Given the description of an element on the screen output the (x, y) to click on. 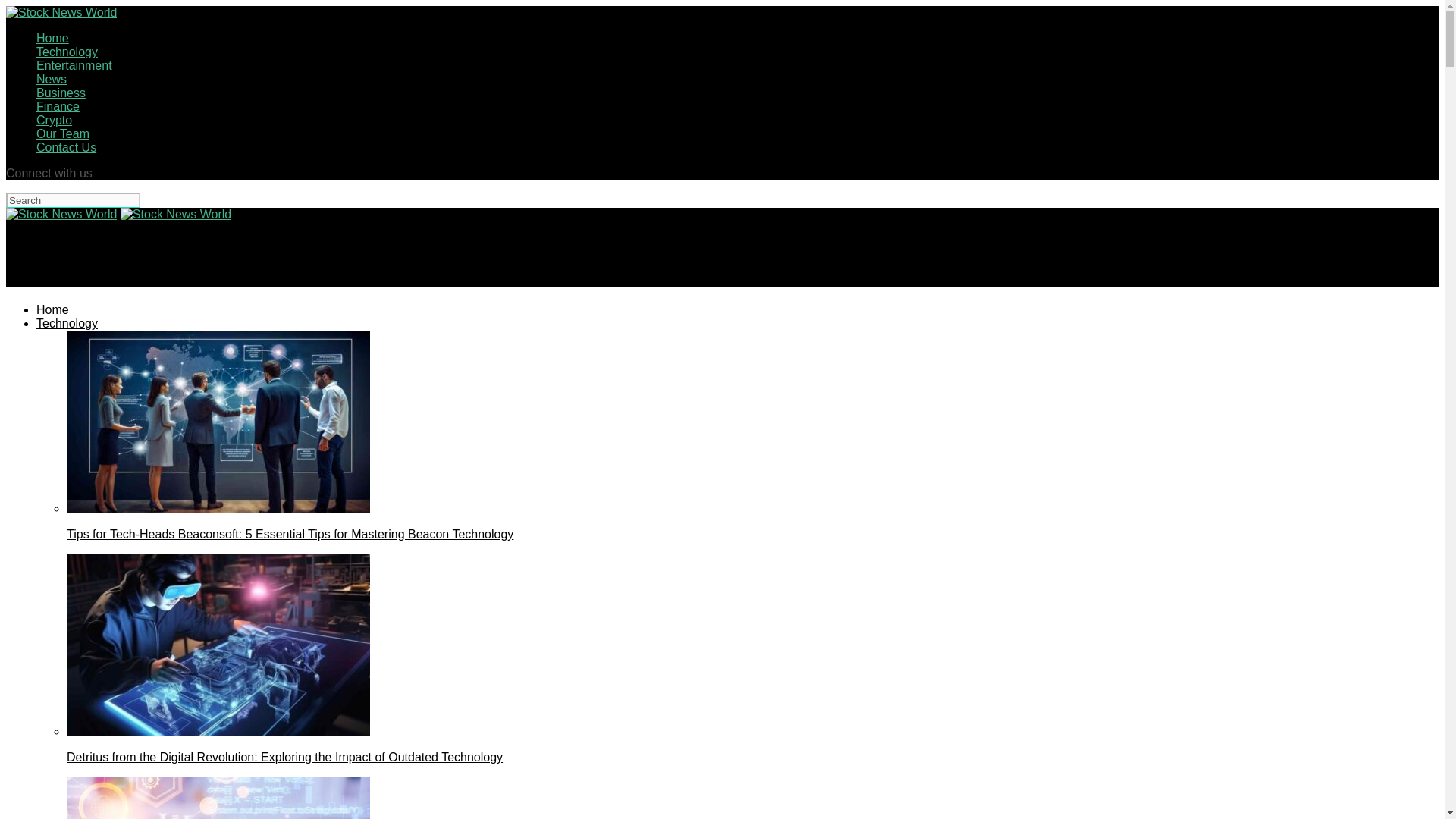
Home (52, 38)
News (51, 78)
Contact Us (66, 146)
Home (52, 309)
Business (60, 92)
Search (72, 200)
Entertainment (74, 65)
Technology (66, 51)
Finance (58, 106)
Xatpes: Digitizing Sound Through Time 3 (217, 797)
Crypto (53, 119)
Our Team (62, 133)
Technology (66, 323)
